Given the description of an element on the screen output the (x, y) to click on. 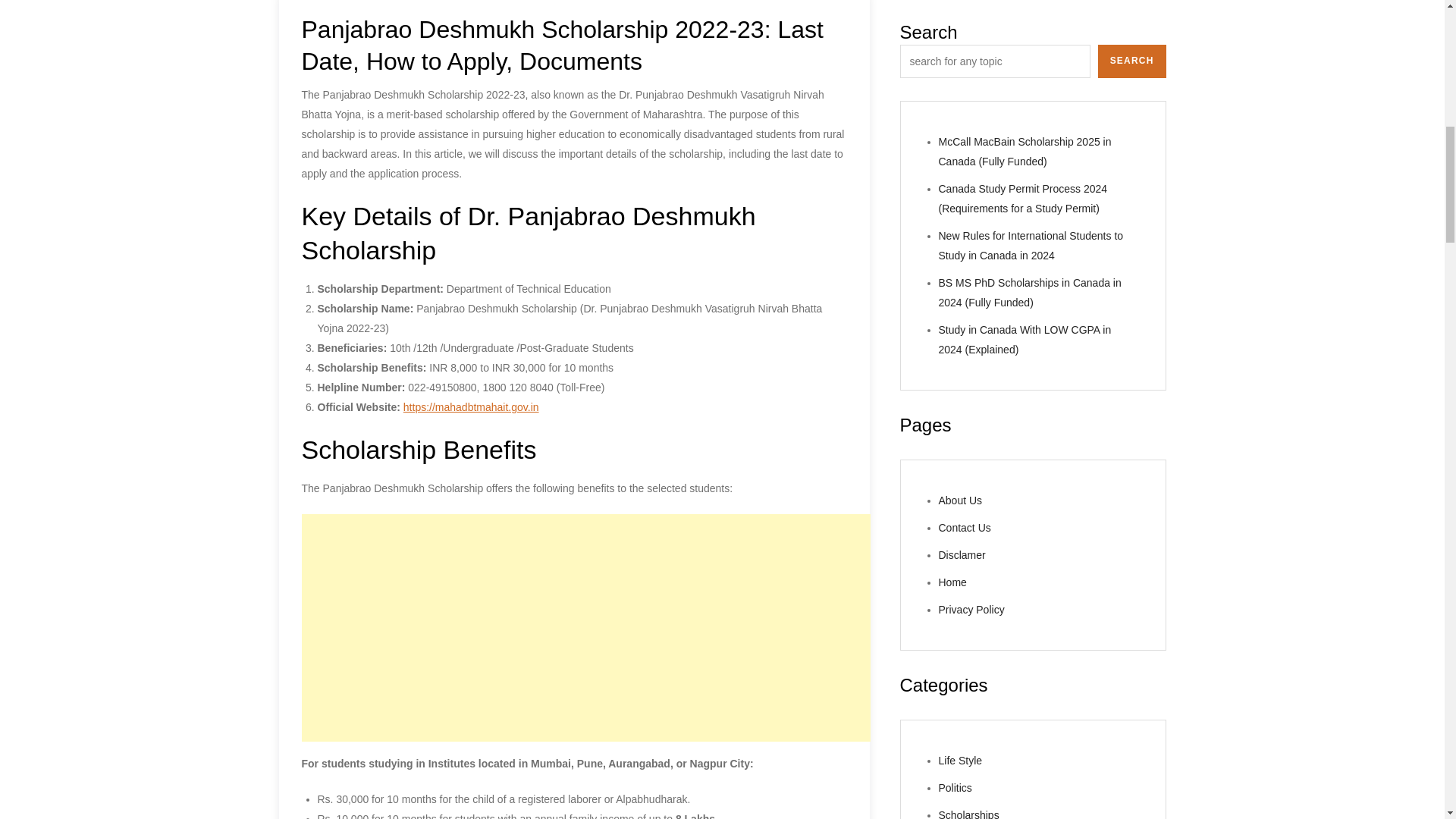
Advertisement (585, 628)
Life Style (960, 45)
Politics (955, 72)
Scholarships (968, 100)
